Given the description of an element on the screen output the (x, y) to click on. 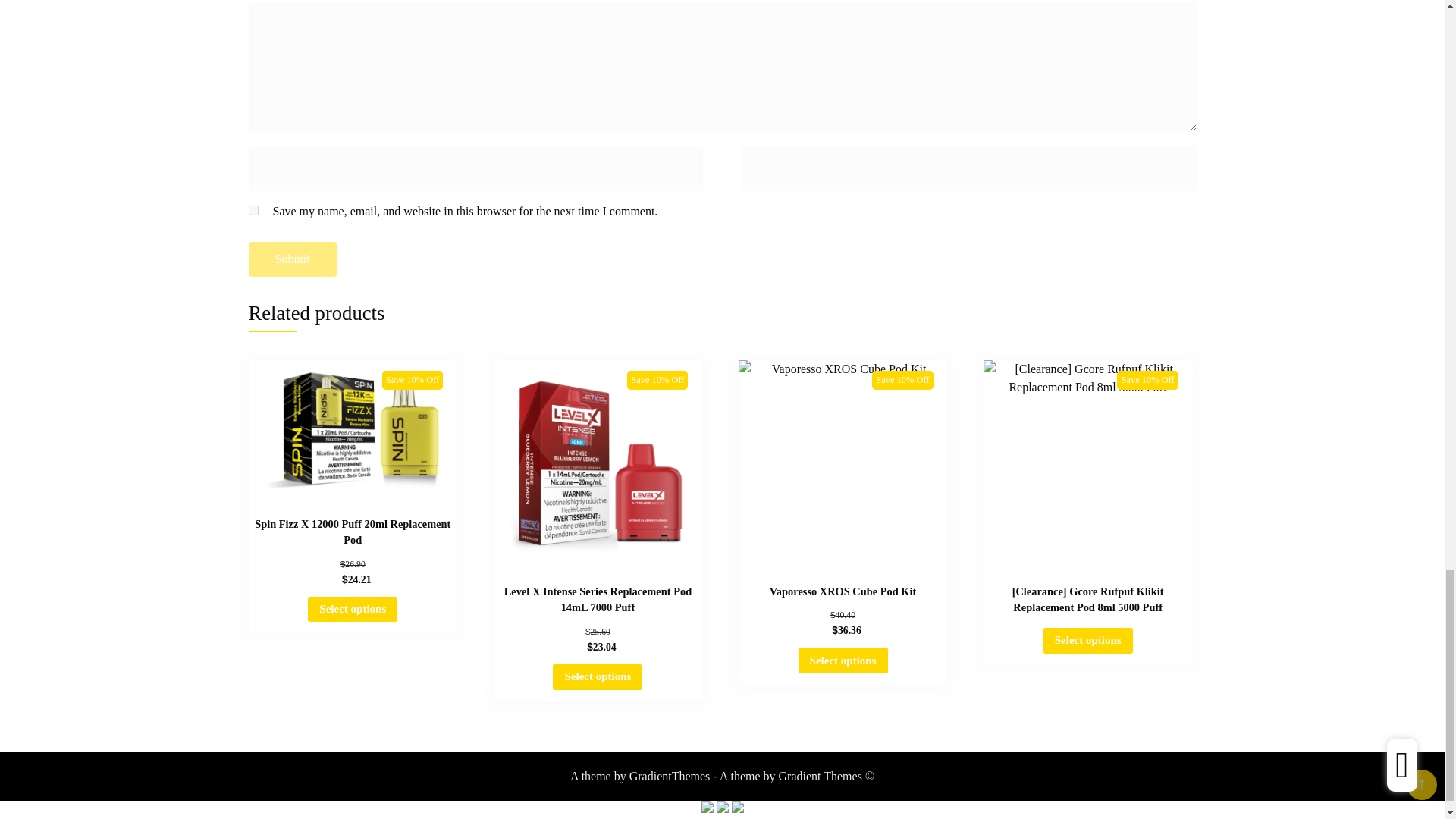
Submit (292, 258)
yes (253, 210)
